Given the description of an element on the screen output the (x, y) to click on. 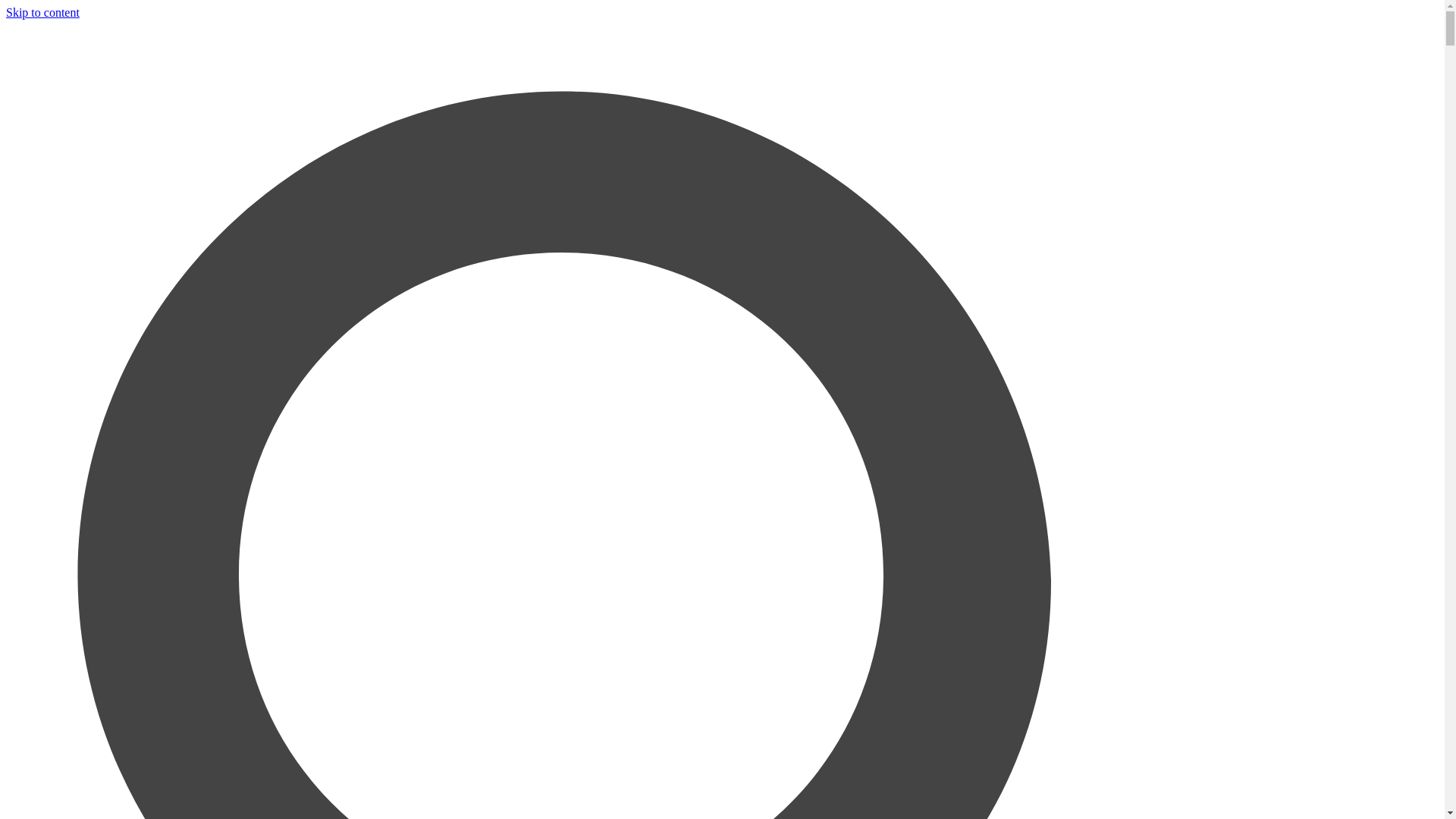
Skip to content Element type: text (42, 12)
